Given the description of an element on the screen output the (x, y) to click on. 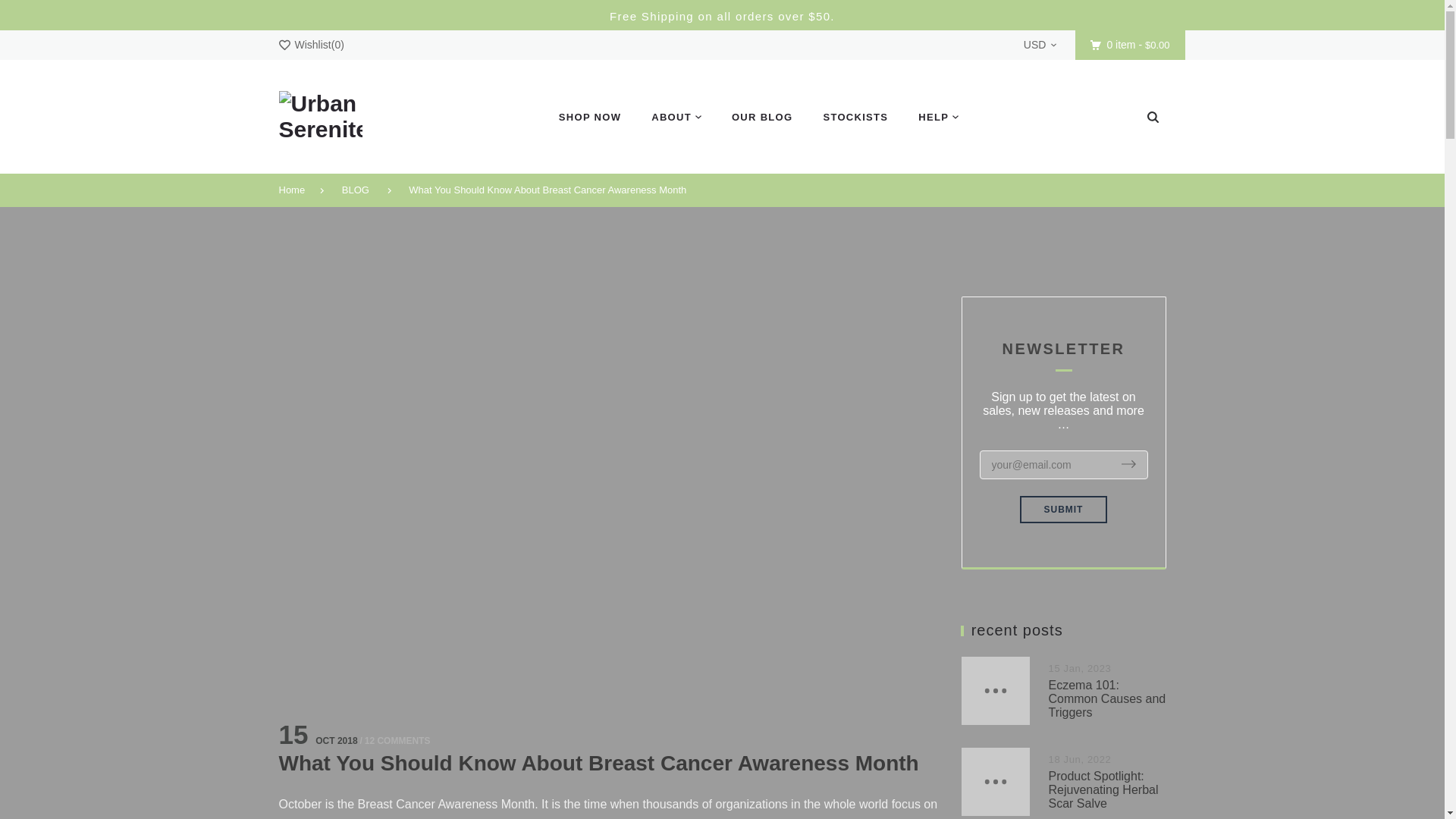
BLOG (363, 190)
SHOP NOW (589, 116)
ABOUT (676, 116)
Home (299, 190)
Eczema 101: Common Causes and Triggers (1107, 698)
STOCKISTS (855, 116)
SUBMIT (1064, 509)
Home (299, 190)
USD (1039, 44)
Ways to Create Healthy Boundaries (1305, 691)
HELP (930, 116)
How Your Skin Changes as You Age (1308, 782)
Product Spotlight: Rejuvenating Herbal Scar Salve (1102, 789)
OUR BLOG (762, 116)
What You Should Know About Breast Cancer Awareness Month (555, 190)
